Given the description of an element on the screen output the (x, y) to click on. 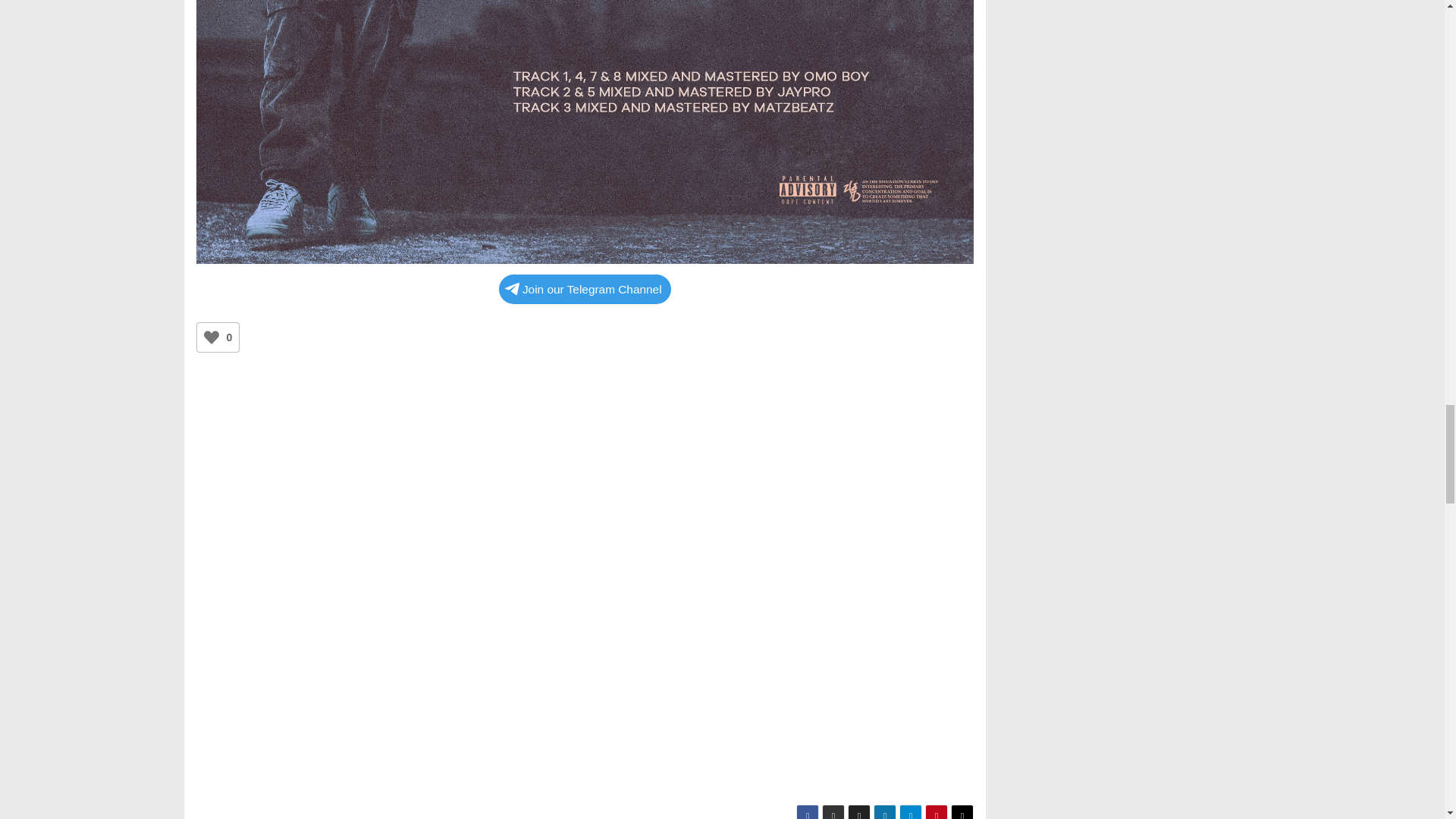
Join our Telegram Channel (585, 288)
